Given the description of an element on the screen output the (x, y) to click on. 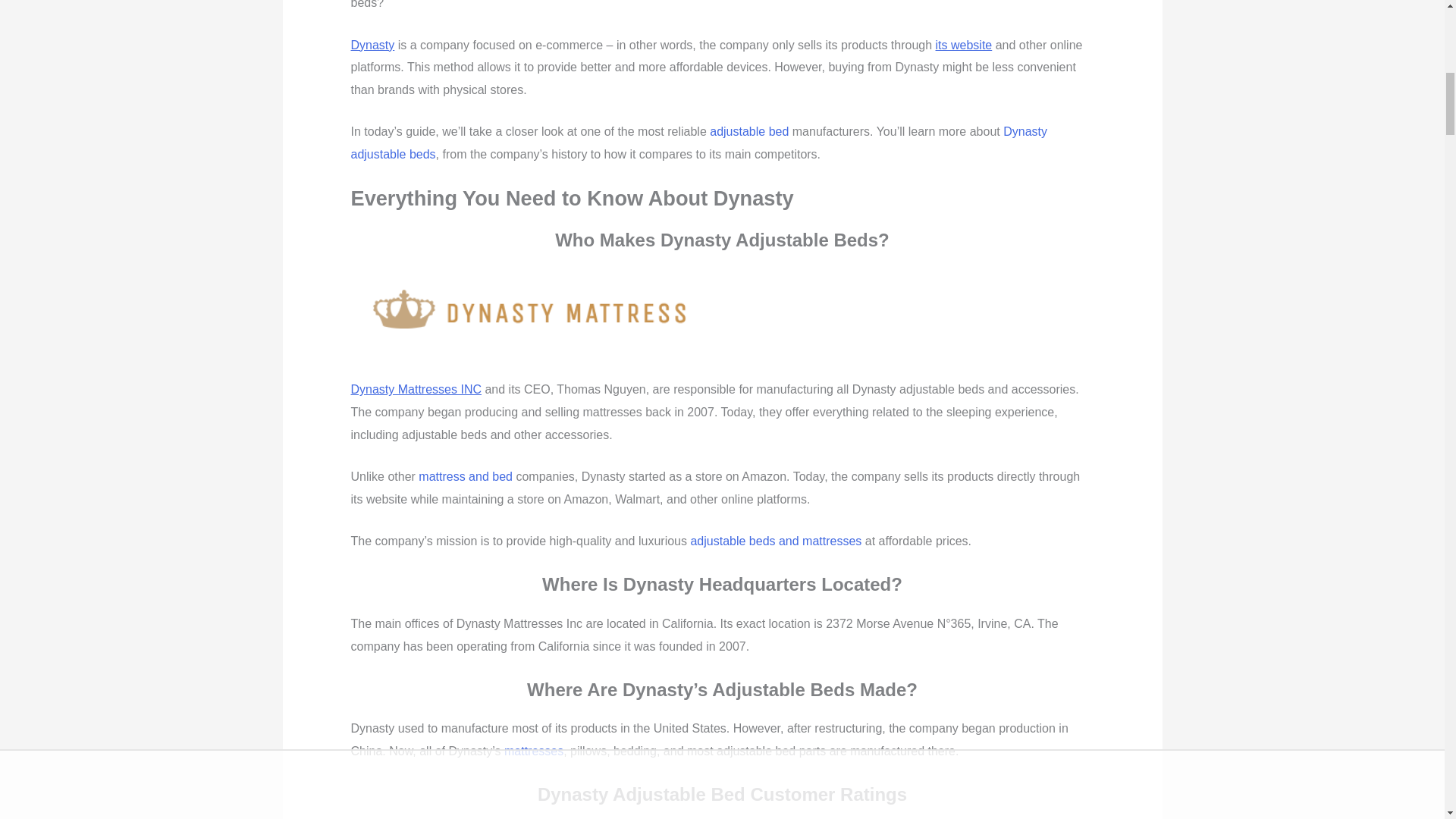
Dynasty mattress (530, 312)
